Given the description of an element on the screen output the (x, y) to click on. 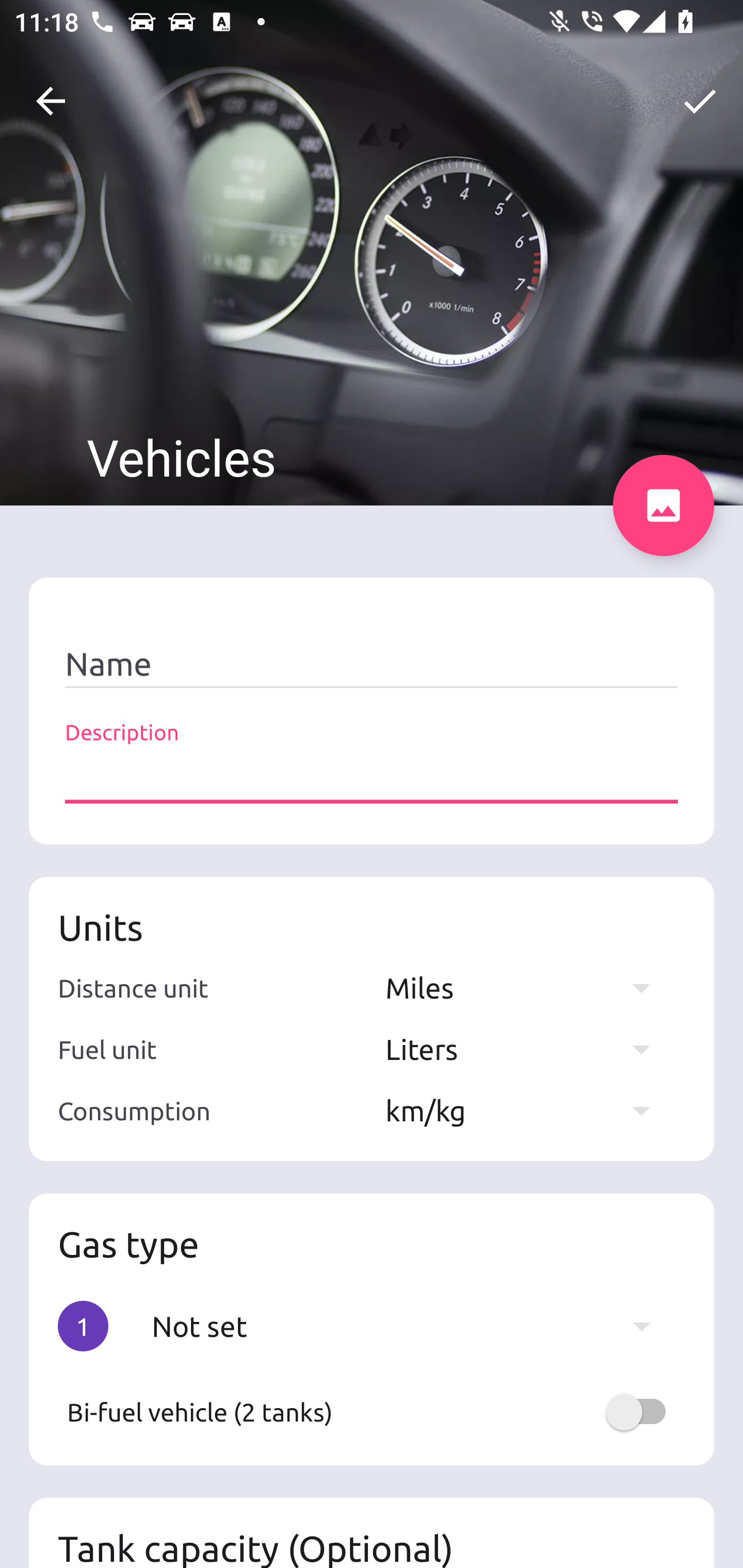
Navigate up (50, 101)
OK (699, 101)
Name (371, 664)
Description (371, 777)
Miles (527, 987)
Liters (527, 1048)
km/kg (527, 1110)
Not set (411, 1325)
Bi-fuel vehicle (2 tanks) (371, 1411)
